Given the description of an element on the screen output the (x, y) to click on. 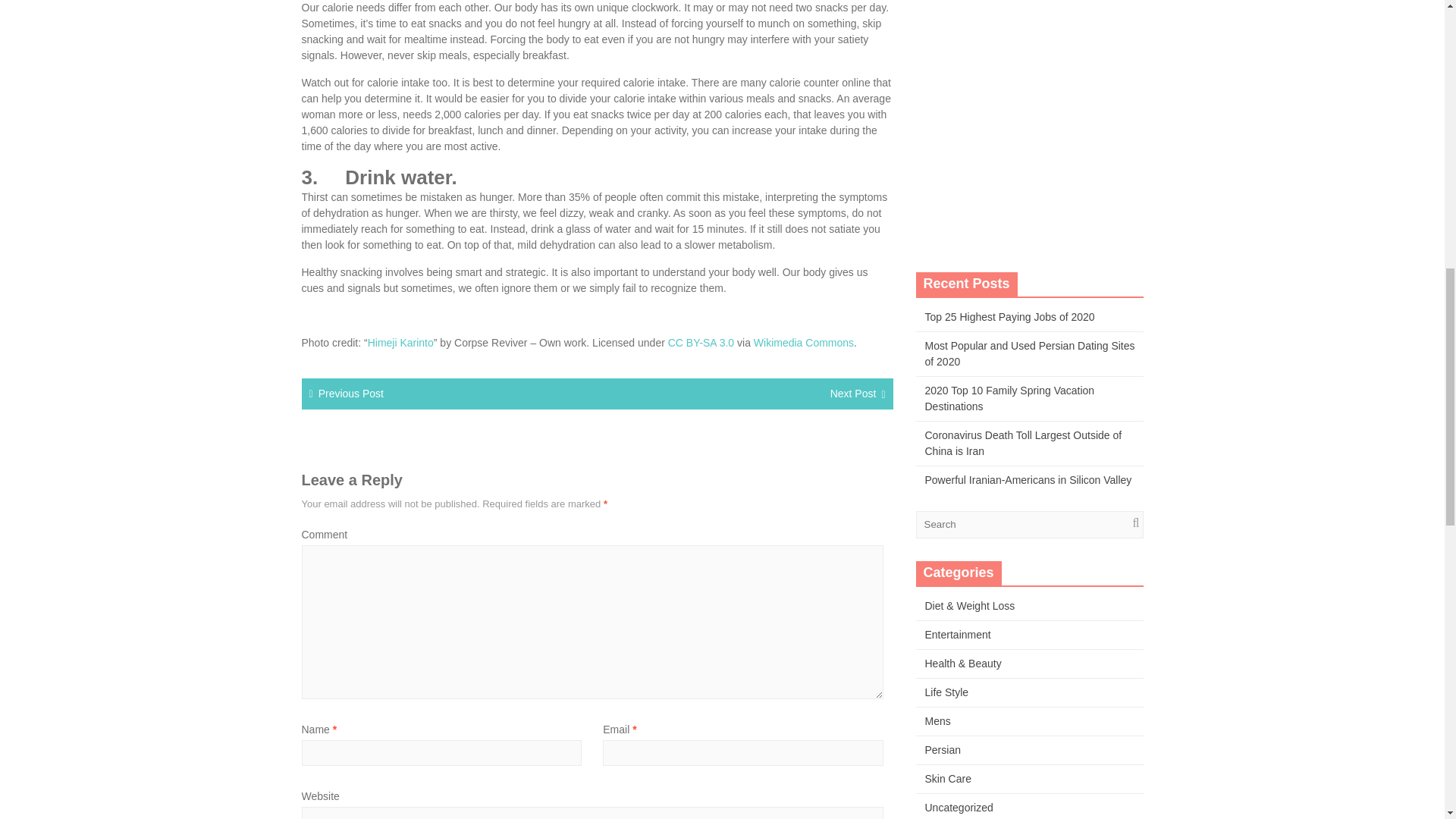
CC BY-SA 3.0 (700, 342)
Previous Post (351, 393)
Next Post (852, 393)
Top 25 Highest Paying Jobs of 2020 (1009, 316)
Life Style (946, 692)
Wikimedia Commons (803, 342)
Most Popular and Used Persian Dating Sites of 2020 (1029, 353)
Coronavirus Death Toll Largest Outside of China is Iran (1023, 443)
Entertainment (957, 634)
Persian (942, 749)
